Given the description of an element on the screen output the (x, y) to click on. 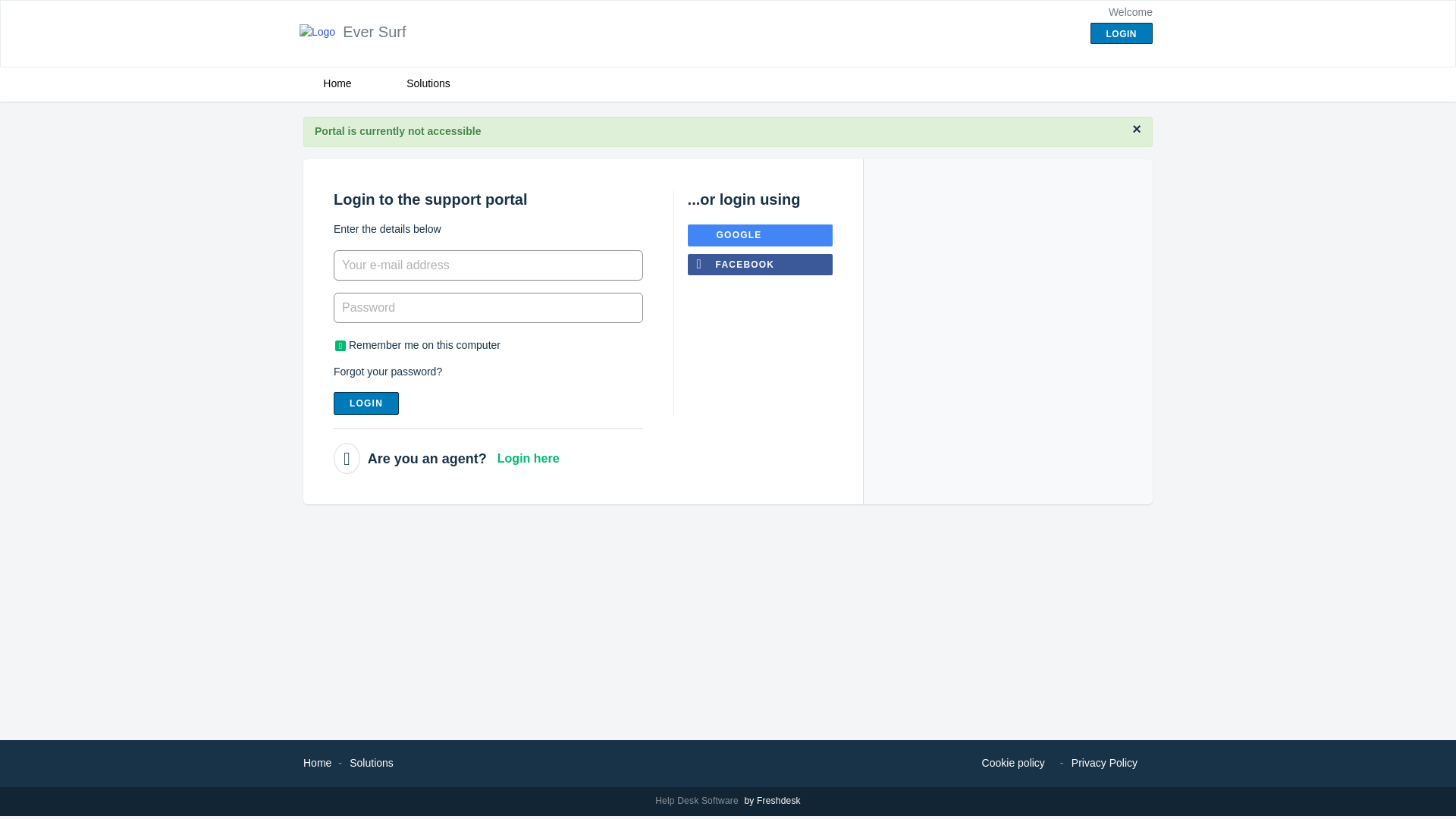
Solutions (371, 762)
Login here (528, 458)
Why we love Cookies (1013, 763)
1 (339, 346)
Privacy Policy (1104, 763)
GOOGLE (759, 235)
Cookie policy (1013, 763)
Home (316, 762)
Solutions (428, 83)
